Given the description of an element on the screen output the (x, y) to click on. 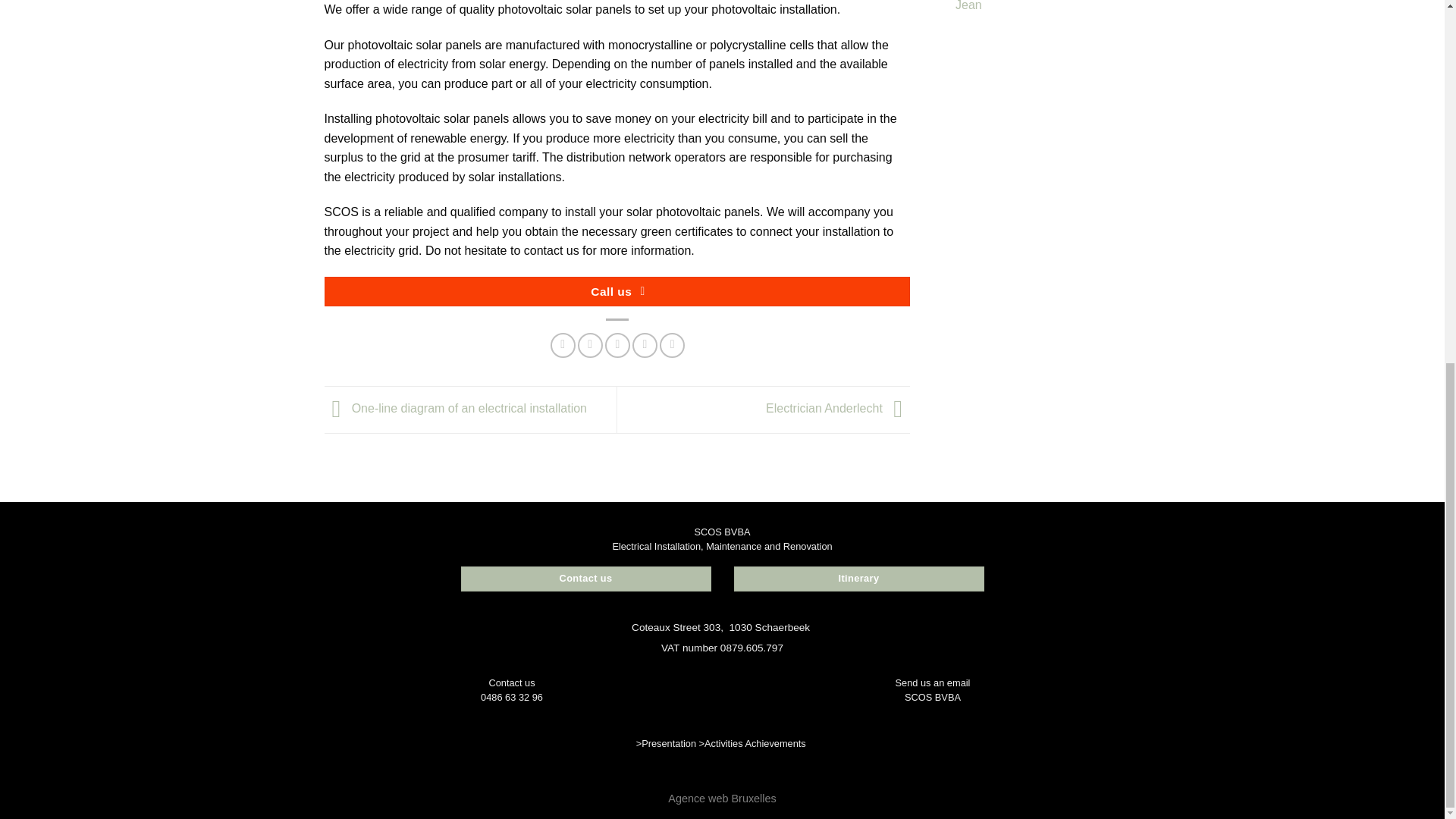
Email to a Friend (617, 344)
Share on Facebook (562, 344)
Share on Twitter (590, 344)
Share on LinkedIn (671, 344)
Pin on Pinterest (644, 344)
